Given the description of an element on the screen output the (x, y) to click on. 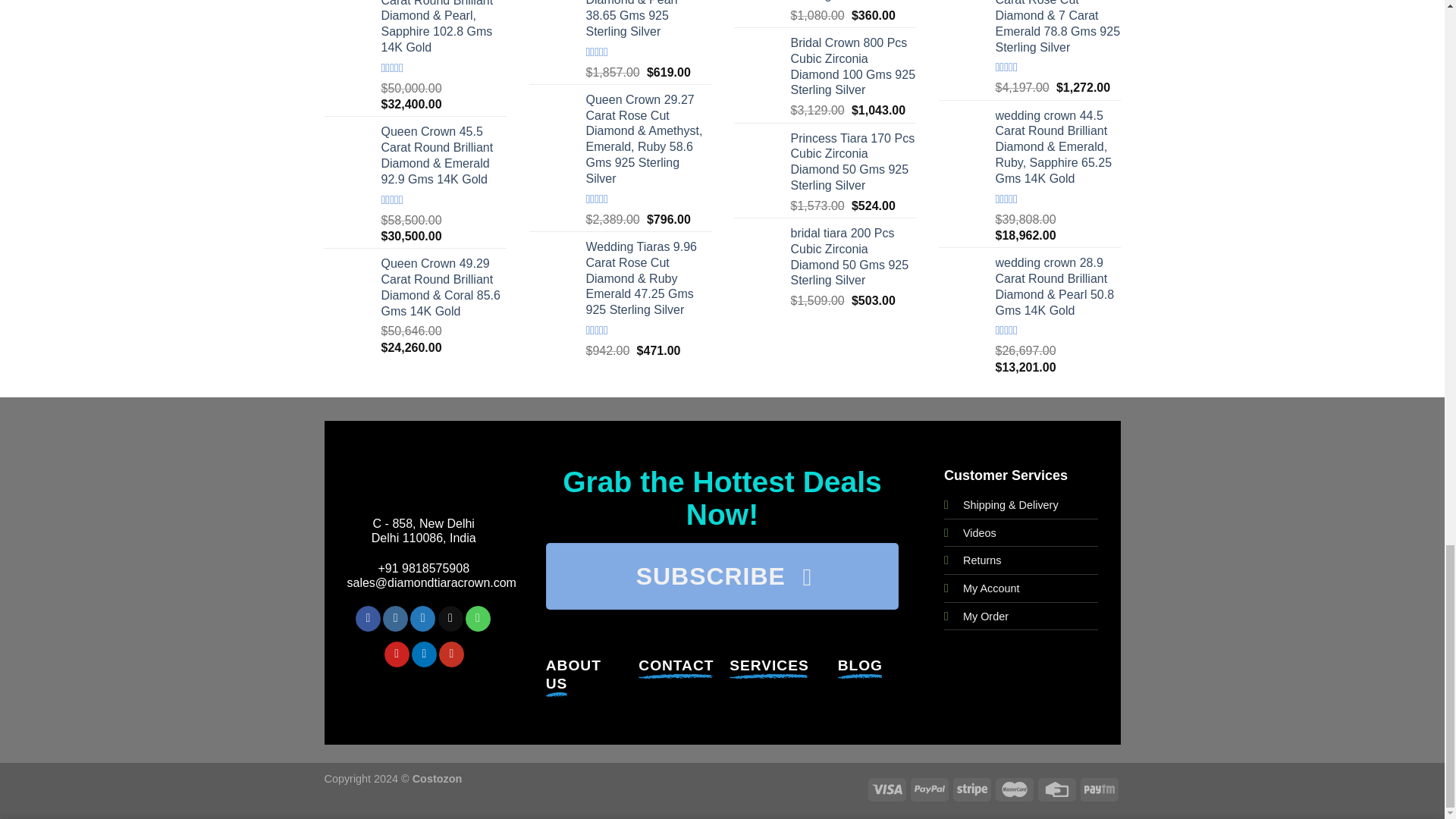
Follow on Pinterest (396, 654)
Follow on Instagram (394, 618)
Call us (477, 618)
Send us an email (450, 618)
Follow on LinkedIn (424, 654)
Follow on Facebook (367, 618)
Follow on YouTube (451, 654)
Follow on Twitter (422, 618)
